Given the description of an element on the screen output the (x, y) to click on. 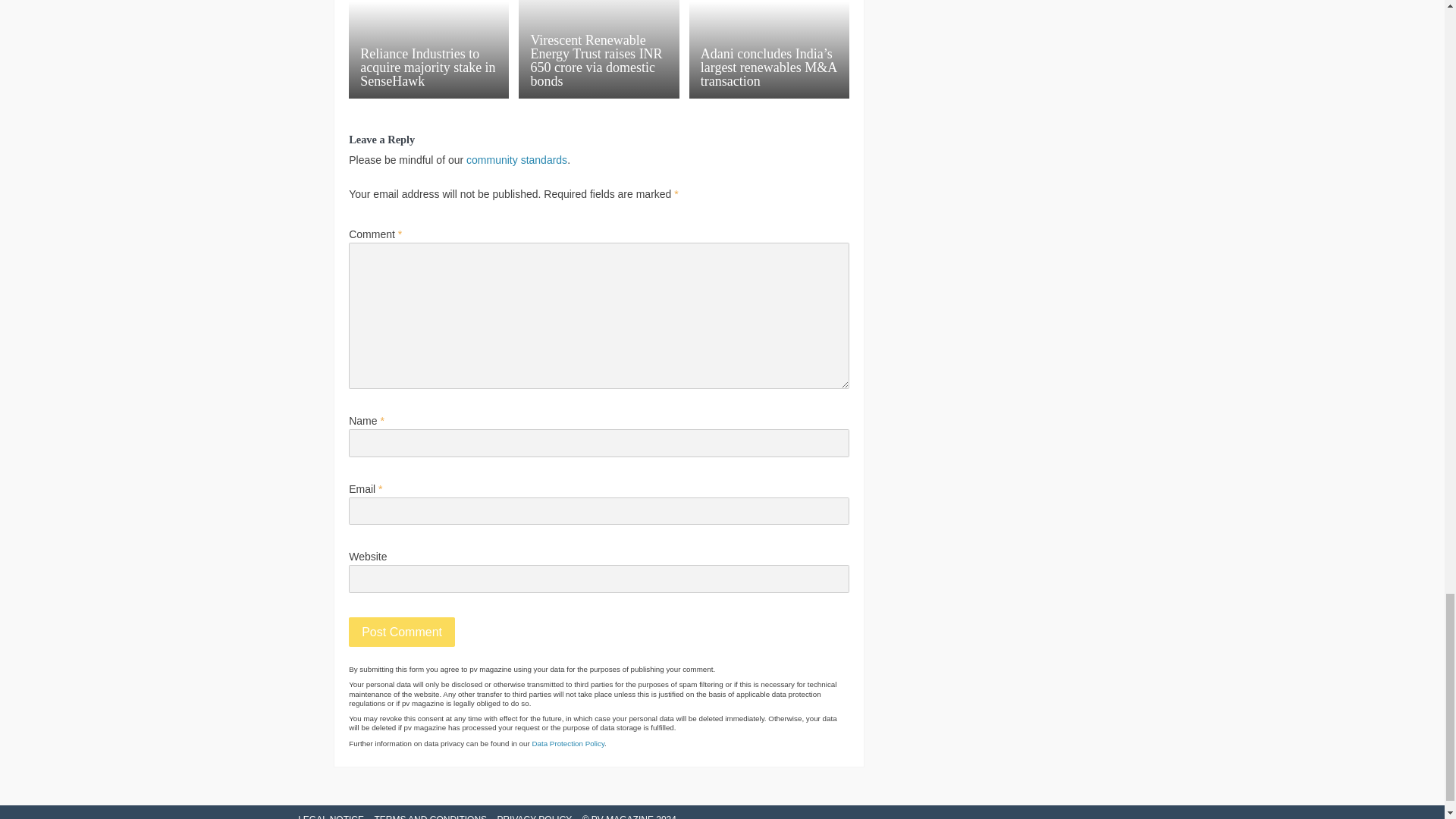
Post Comment (401, 632)
